Given the description of an element on the screen output the (x, y) to click on. 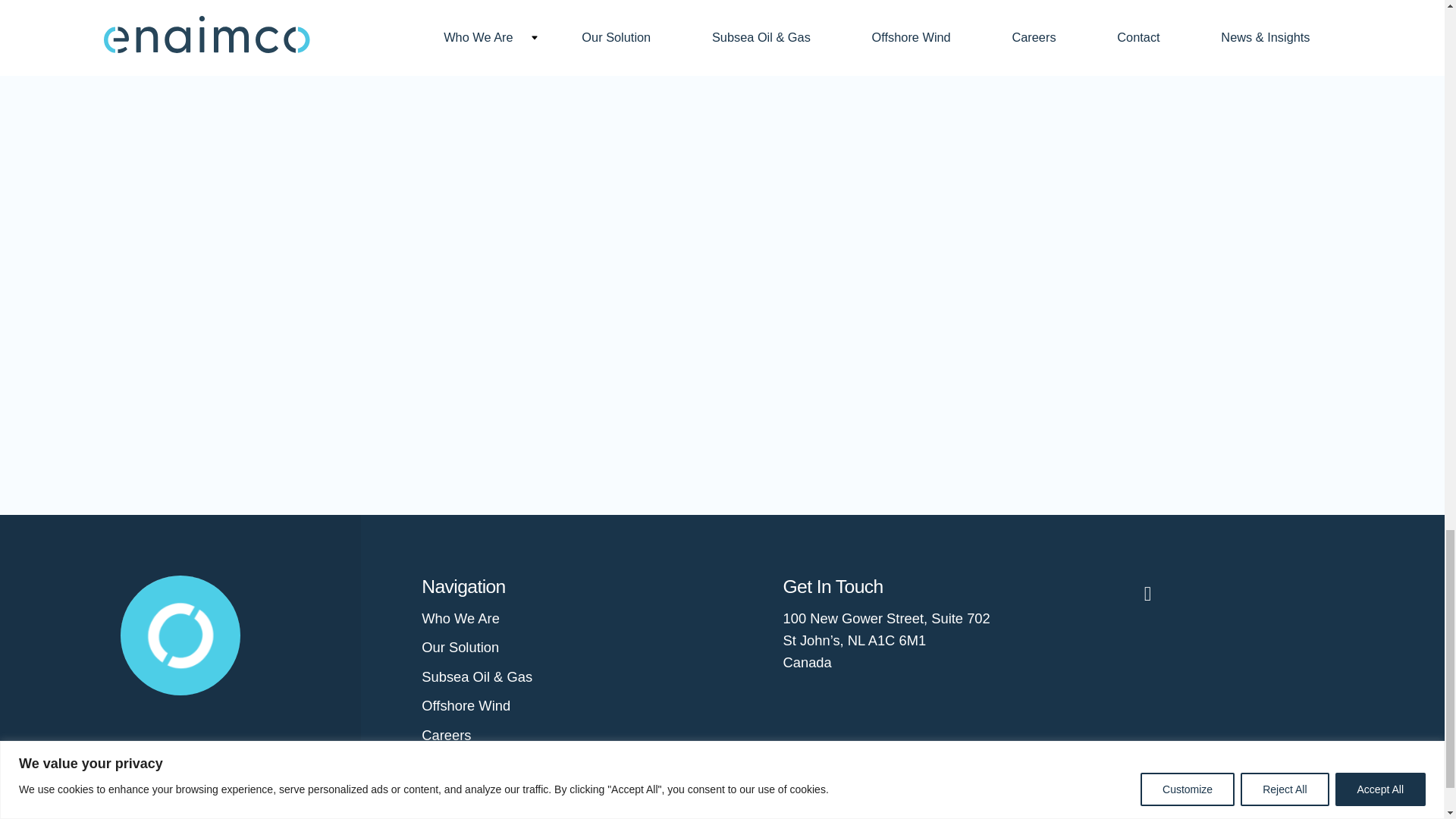
Who We Are (460, 618)
Our Solution (460, 647)
Enaimco (180, 633)
Offshore Wind (466, 705)
